Given the description of an element on the screen output the (x, y) to click on. 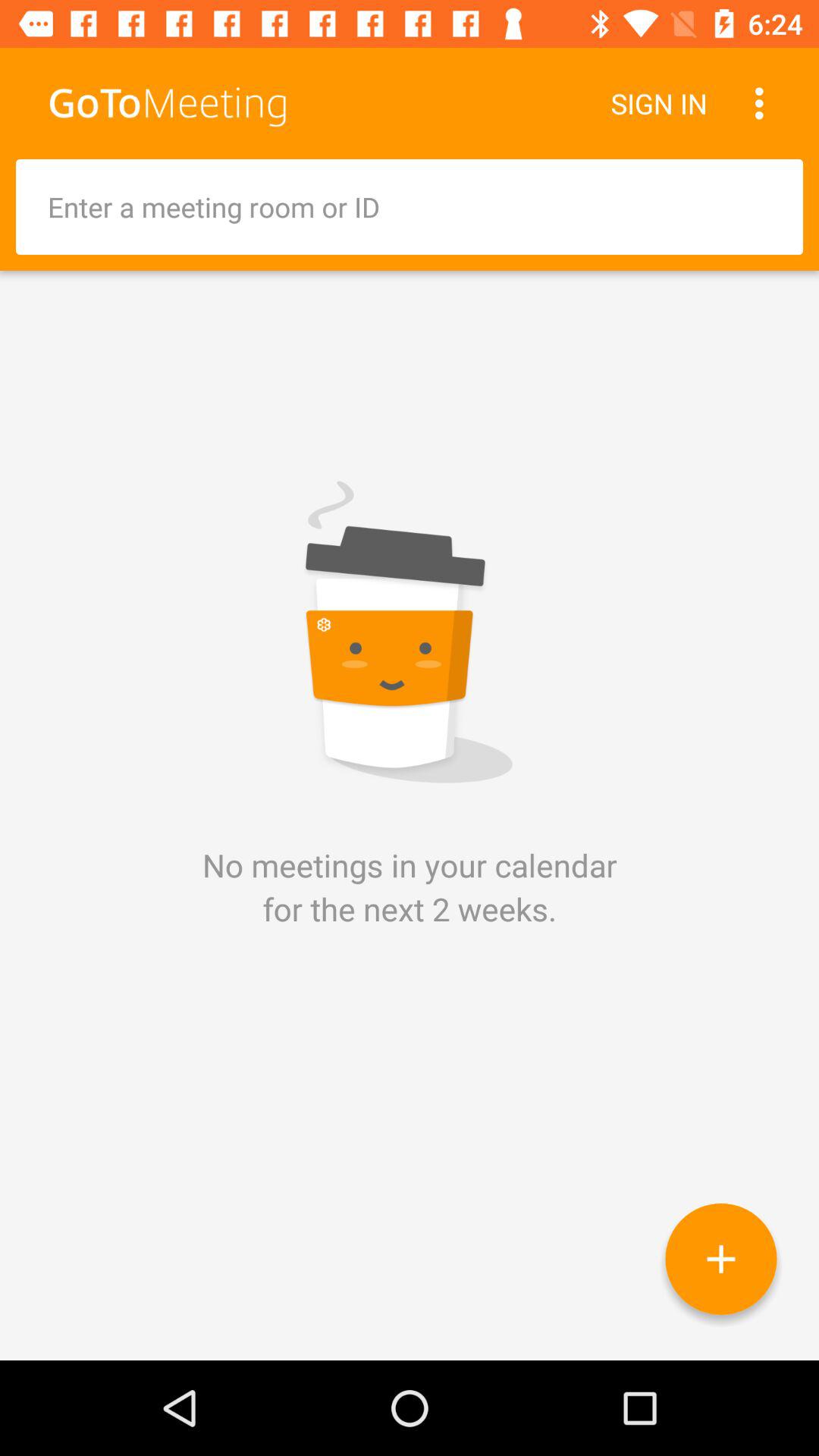
id or meeting room entry (409, 206)
